Given the description of an element on the screen output the (x, y) to click on. 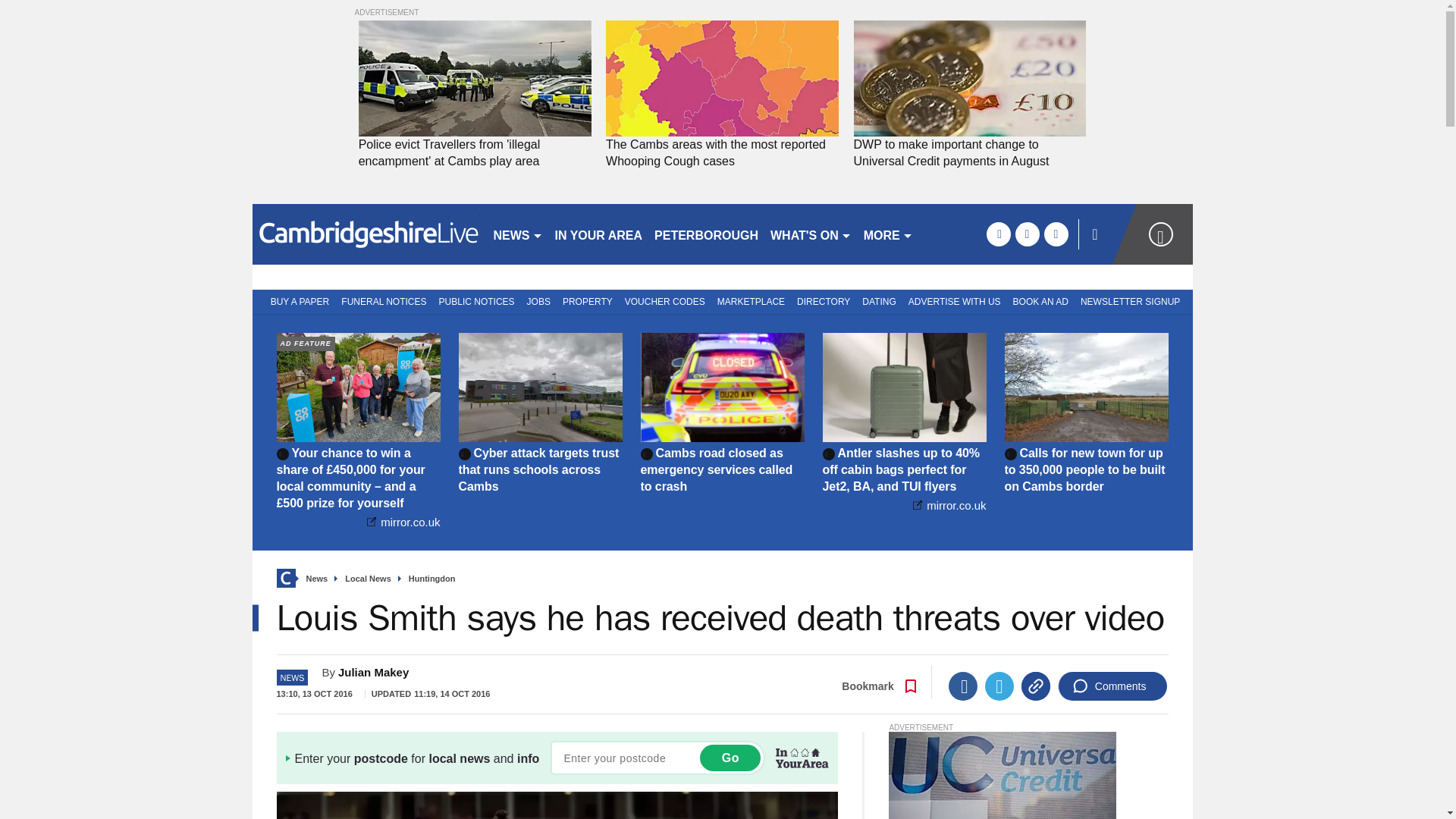
Facebook (962, 686)
facebook (997, 233)
twitter (1026, 233)
Comments (1112, 686)
NEWS (517, 233)
IN YOUR AREA (598, 233)
PETERBOROUGH (705, 233)
The Cambs areas with the most reported Whooping Cough cases (721, 152)
Twitter (999, 686)
Go (730, 757)
MORE (887, 233)
cambridgenews (365, 233)
